Given the description of an element on the screen output the (x, y) to click on. 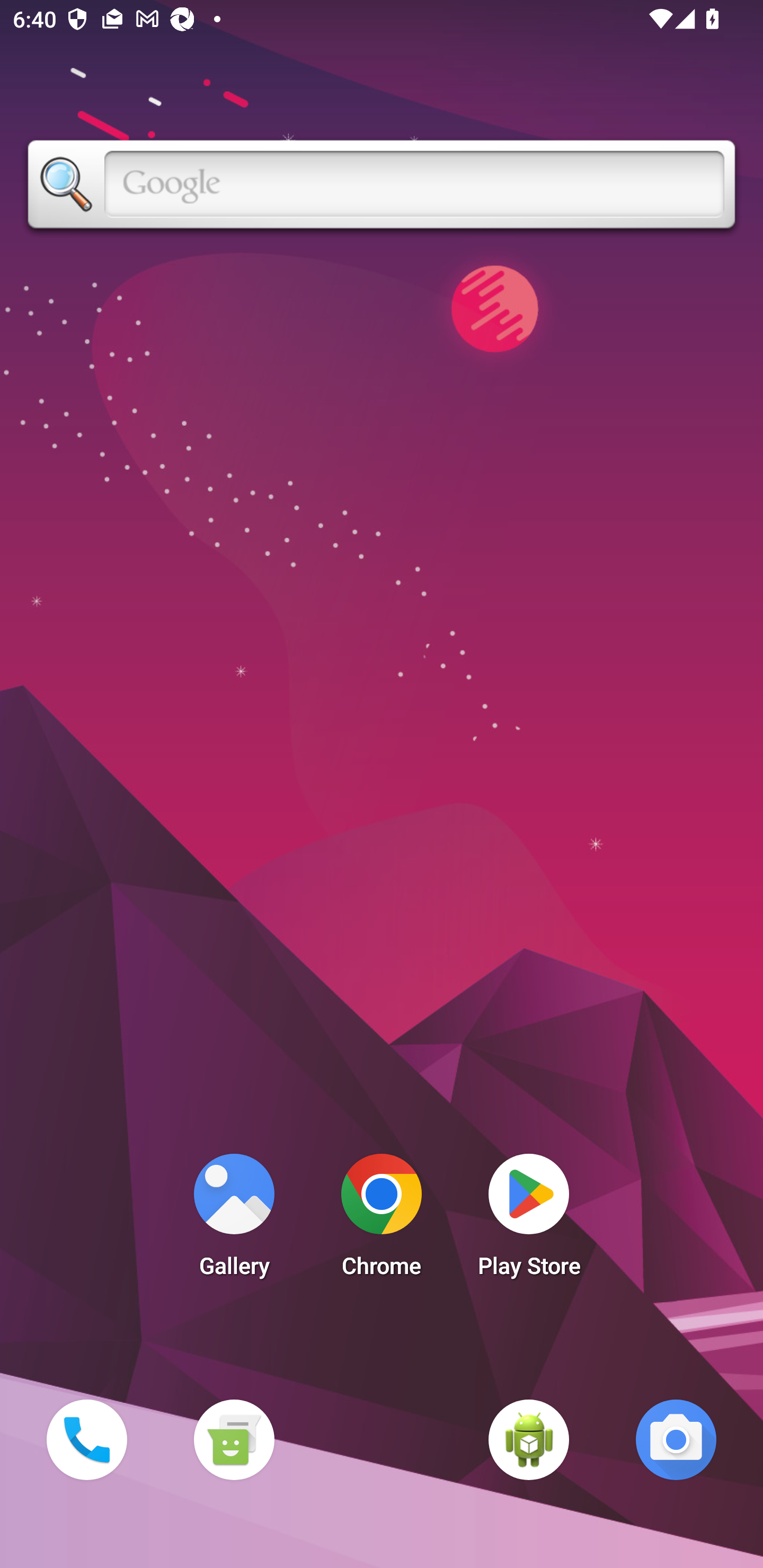
Gallery (233, 1220)
Chrome (381, 1220)
Play Store (528, 1220)
Phone (86, 1439)
Messaging (233, 1439)
WebView Browser Tester (528, 1439)
Camera (676, 1439)
